Given the description of an element on the screen output the (x, y) to click on. 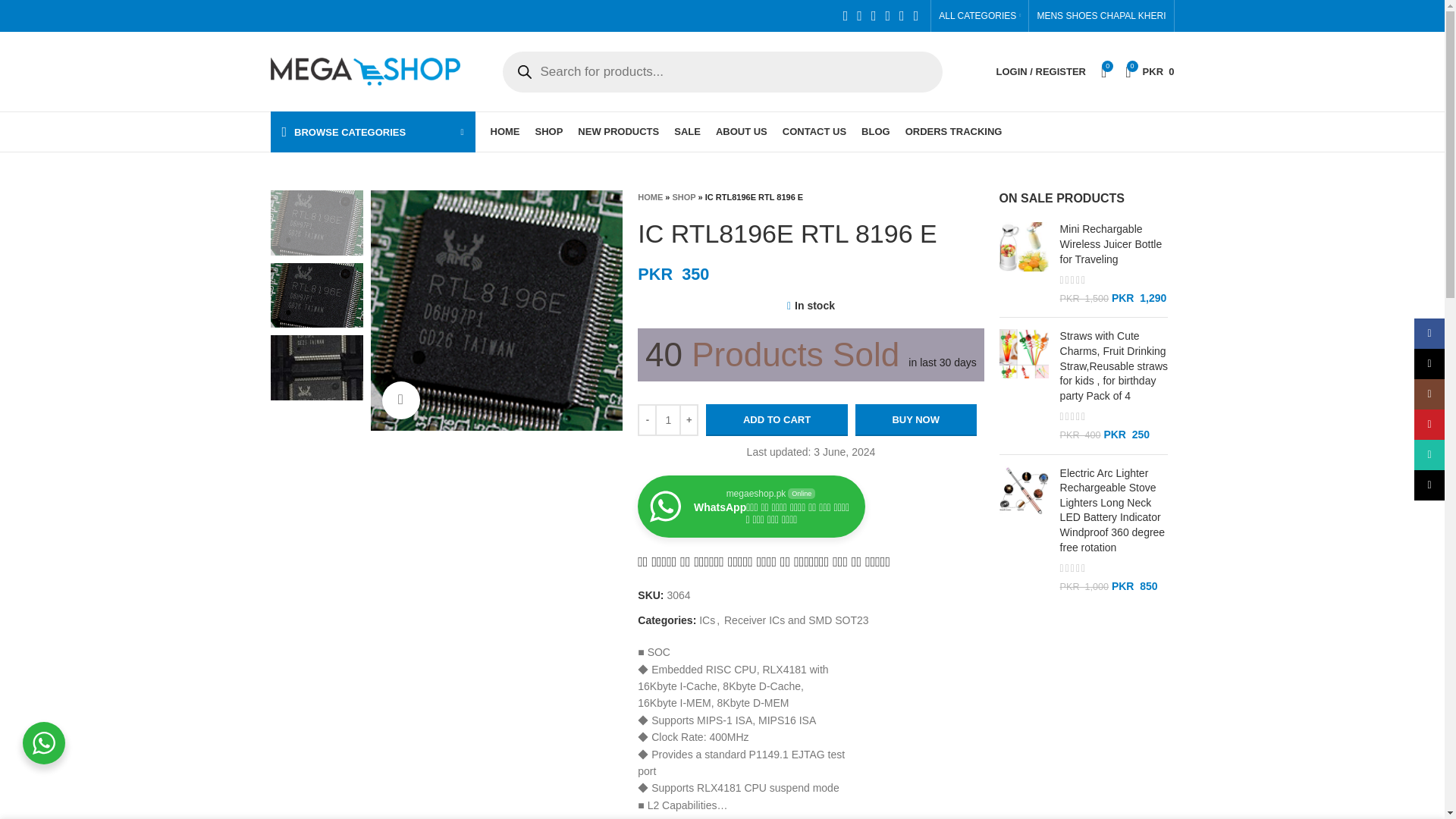
Shopping cart (1149, 71)
Mini Rechargable Wireless Juicer Bottle for Traveling (1113, 243)
rtl8196e (496, 310)
ALL CATEGORIES (979, 15)
My account (1040, 71)
